Given the description of an element on the screen output the (x, y) to click on. 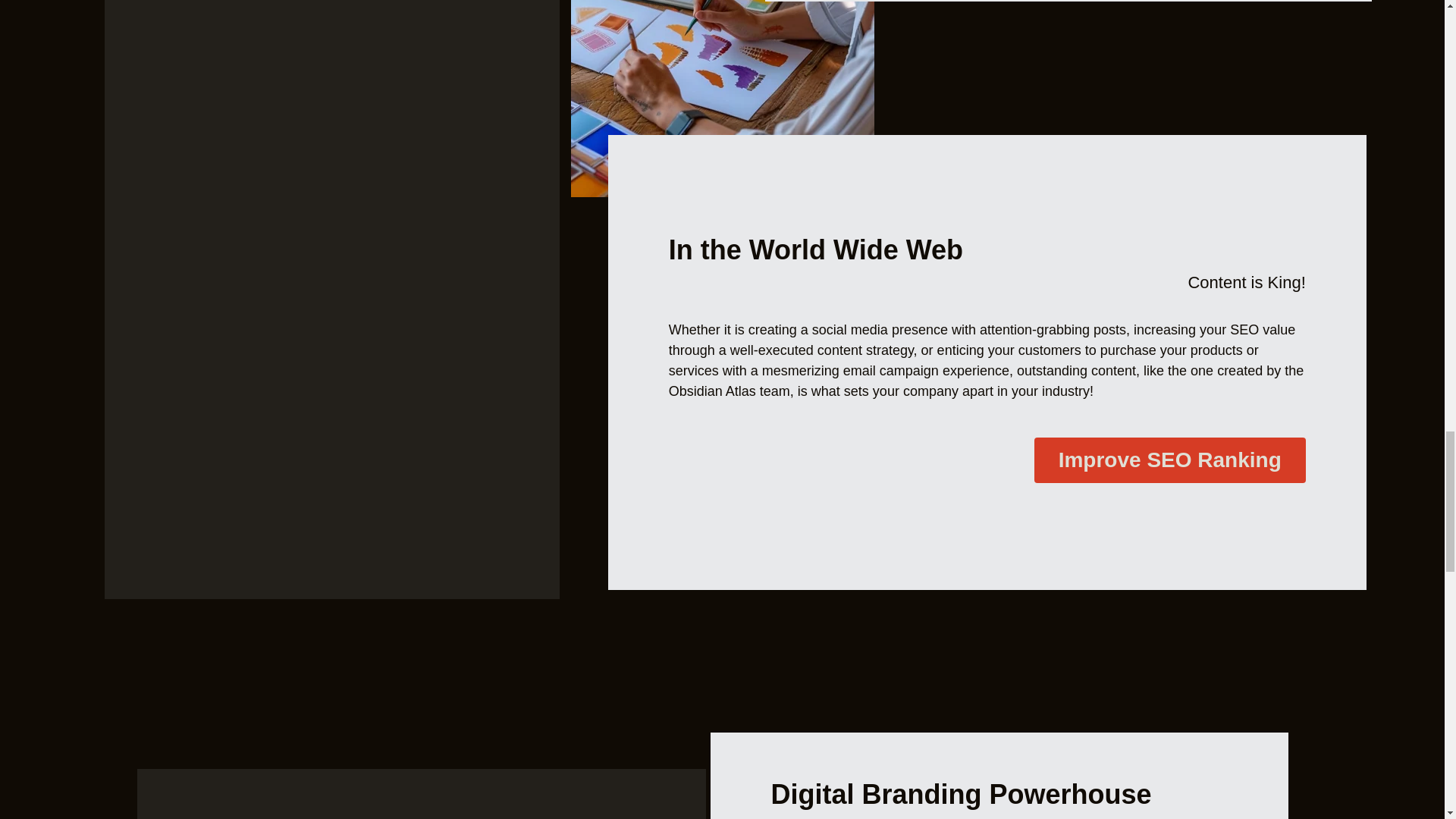
Improve SEO Ranking (1169, 460)
